Given the description of an element on the screen output the (x, y) to click on. 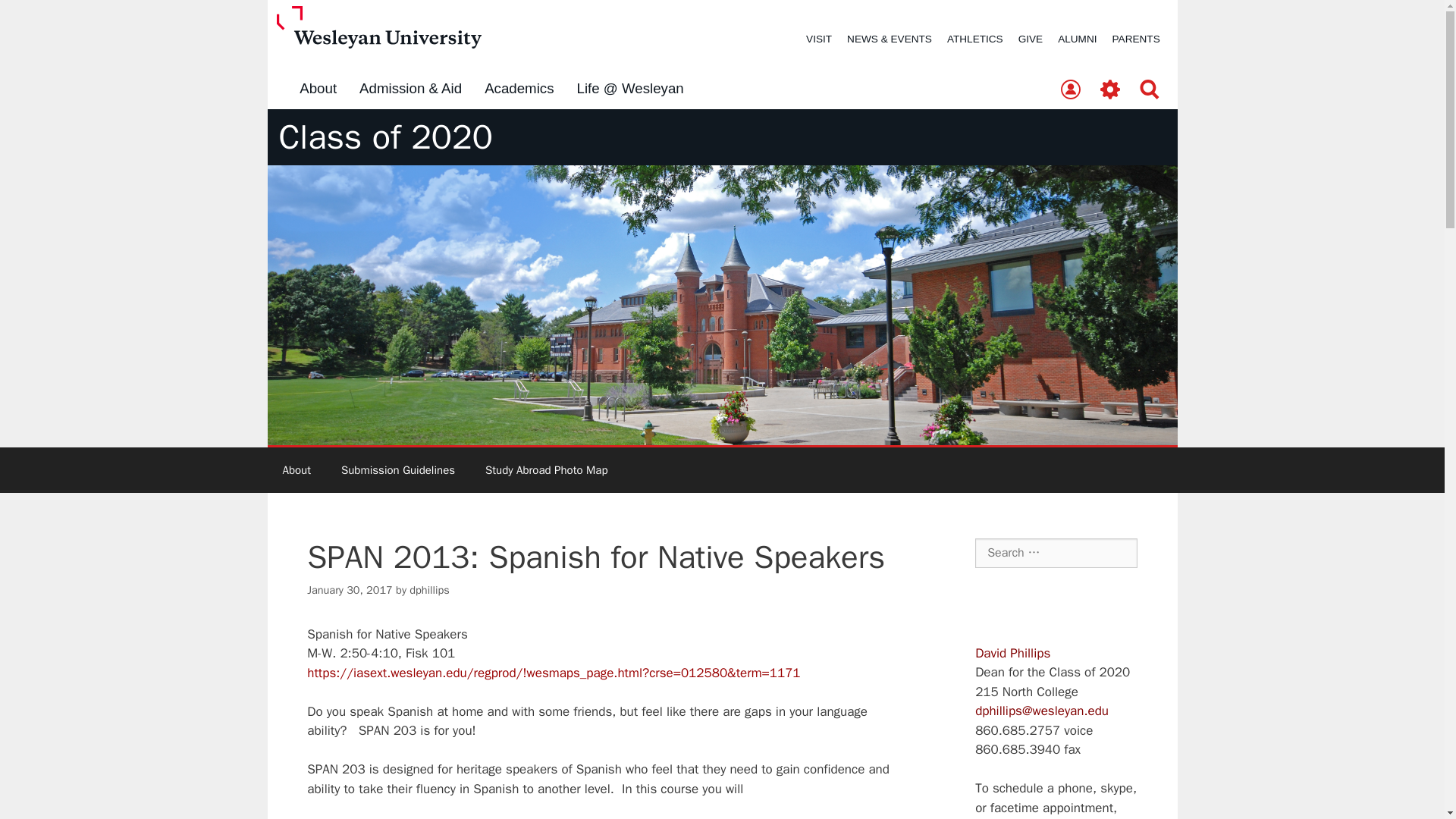
ALUMNI (1076, 39)
Search for: (1056, 552)
Directory (1069, 90)
Search (35, 18)
dphillips (428, 590)
About (295, 470)
Study Abroad Photo Map (546, 470)
Tools (1109, 90)
GIVE (1029, 39)
Search (1149, 90)
Class of 2020 (386, 137)
David Phillips (1012, 652)
View all posts by dphillips (428, 590)
Academics (518, 89)
VISIT (818, 39)
